Given the description of an element on the screen output the (x, y) to click on. 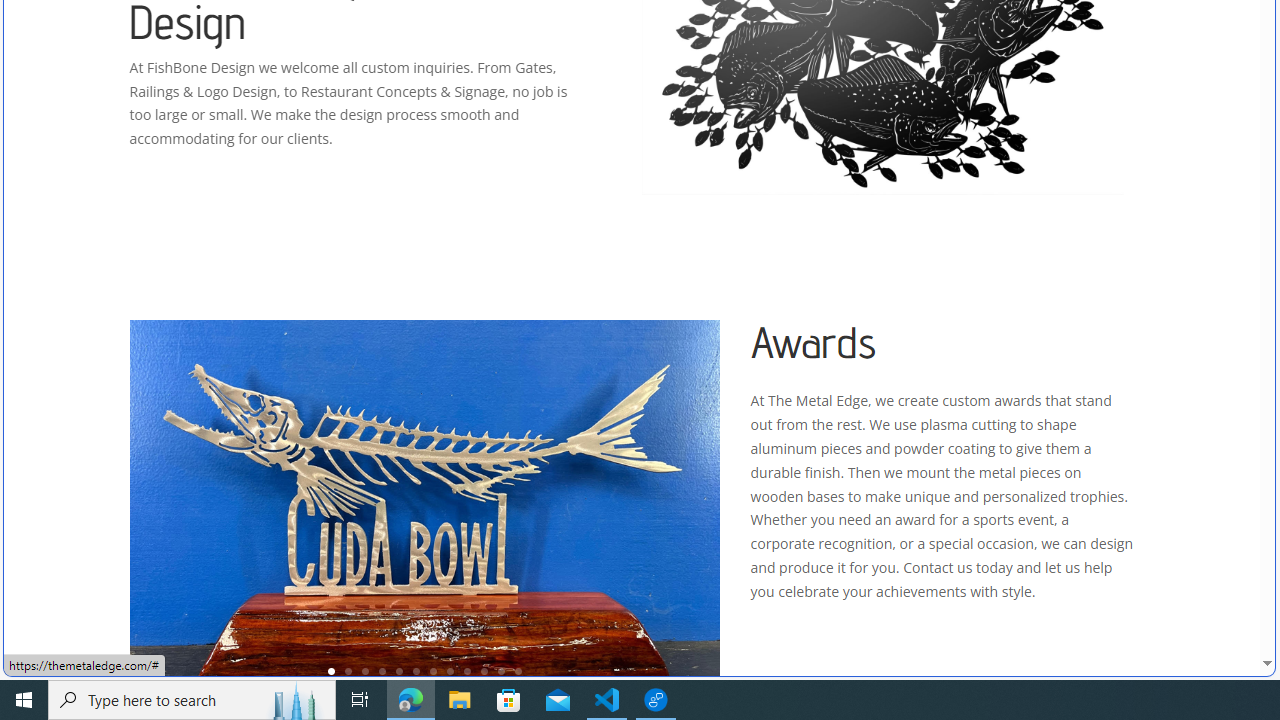
7 (433, 670)
4 (382, 670)
6 (416, 670)
5 (399, 670)
1 (331, 670)
11 (501, 670)
3 (365, 670)
9 (467, 670)
10 (484, 670)
12 (518, 670)
8 (450, 670)
2 (348, 670)
